Given the description of an element on the screen output the (x, y) to click on. 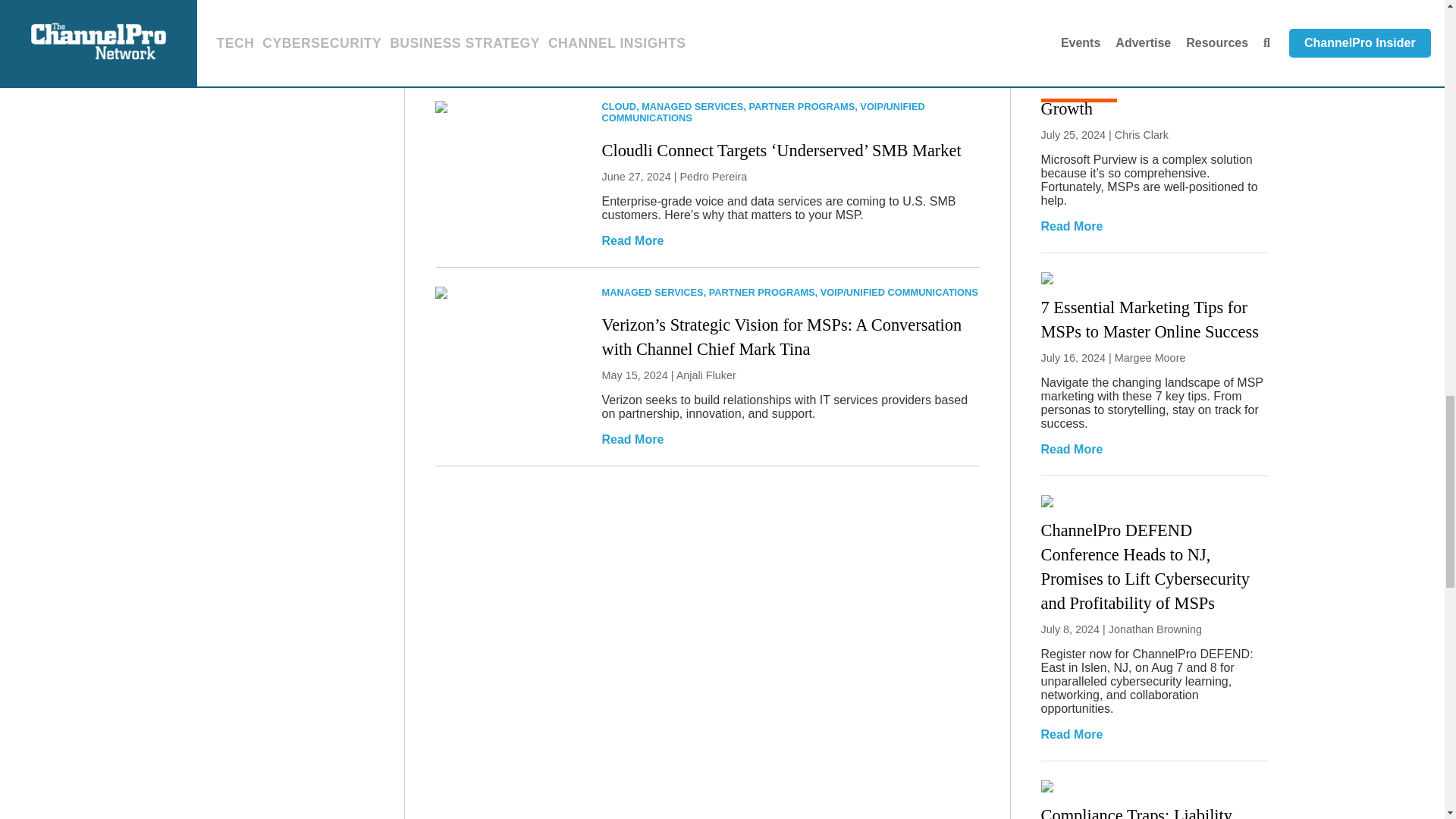
Posts by Anjali Fluker (706, 375)
Posts by Pedro Pereira (712, 176)
Posts by Jonathan Browning (1155, 629)
